Given the description of an element on the screen output the (x, y) to click on. 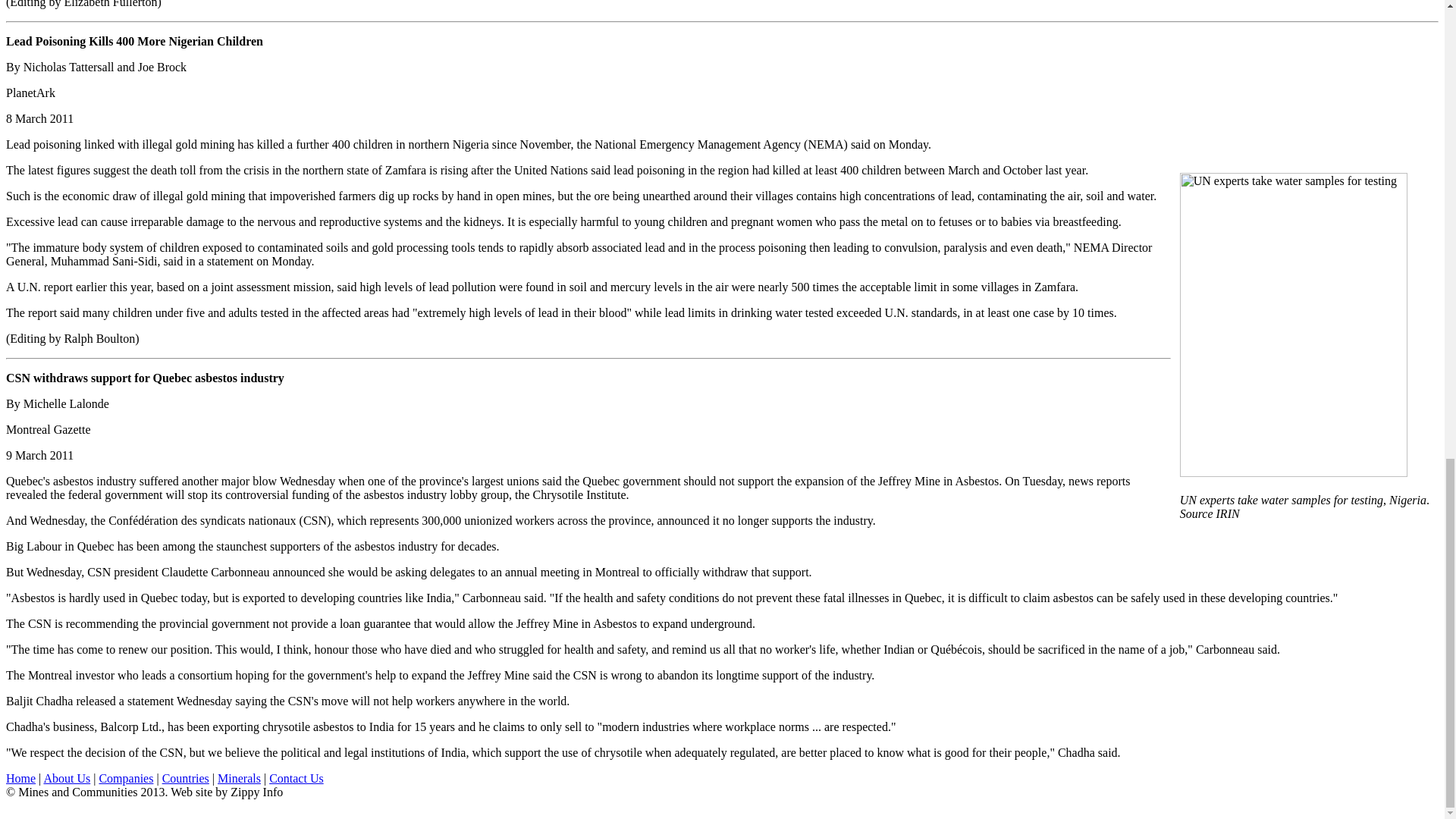
Home (19, 778)
Countries (185, 778)
Contact Us (296, 778)
Minerals (238, 778)
Companies (125, 778)
About Us (66, 778)
UN experts take water samples for testing (1293, 324)
